Given the description of an element on the screen output the (x, y) to click on. 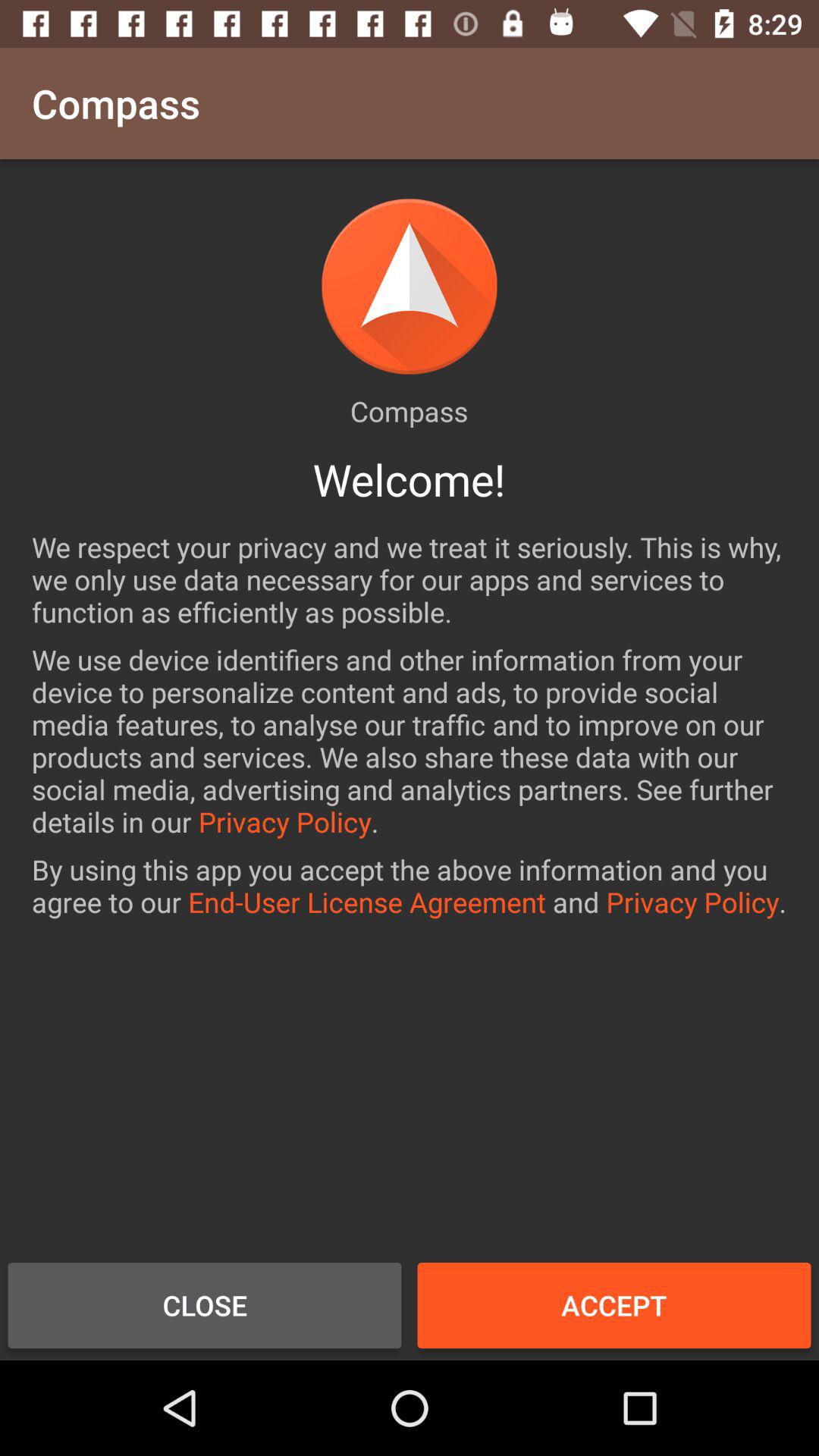
launch the icon below the we use device (409, 885)
